Given the description of an element on the screen output the (x, y) to click on. 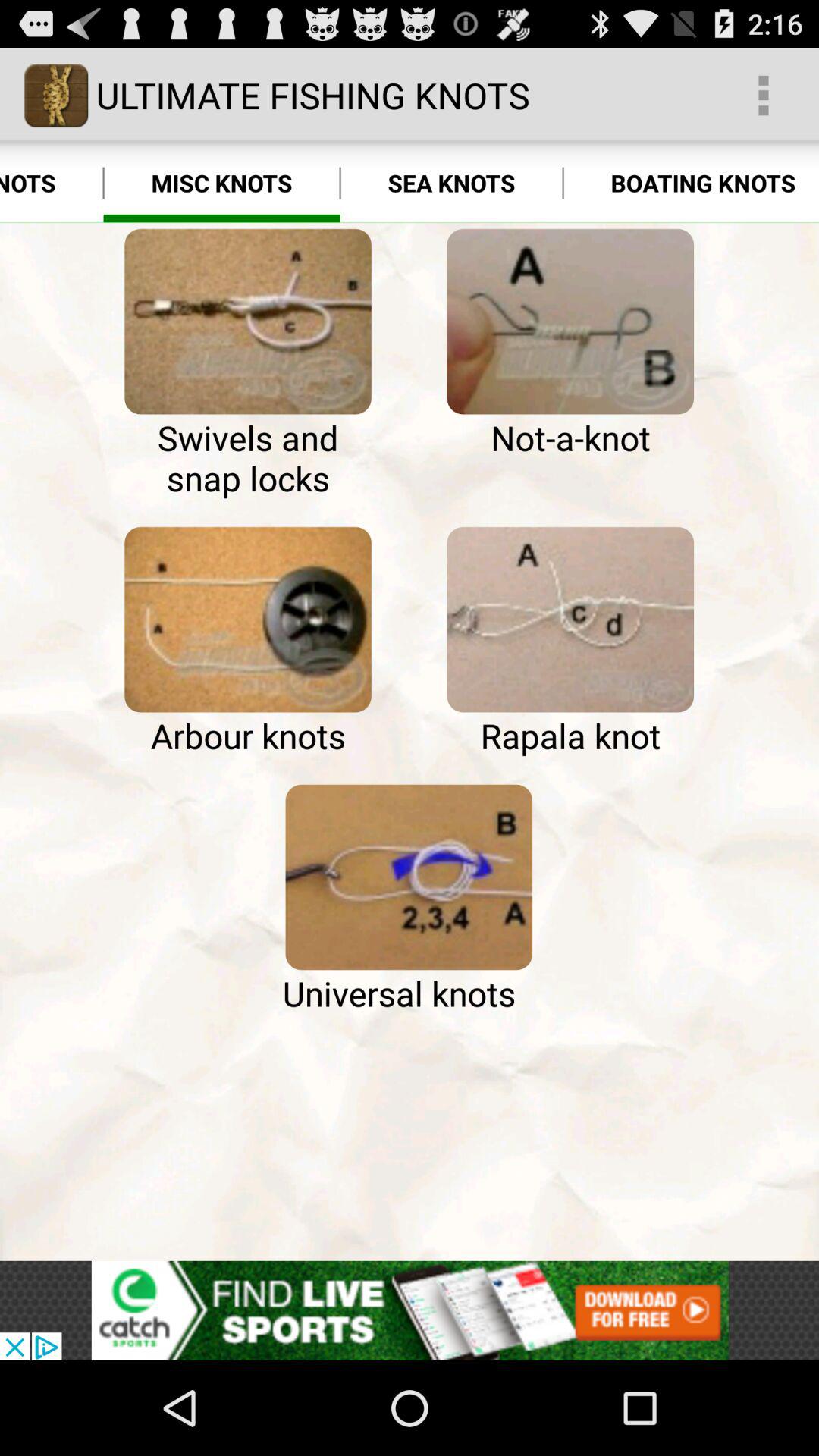
turn off the app above boating knots (763, 95)
